Given the description of an element on the screen output the (x, y) to click on. 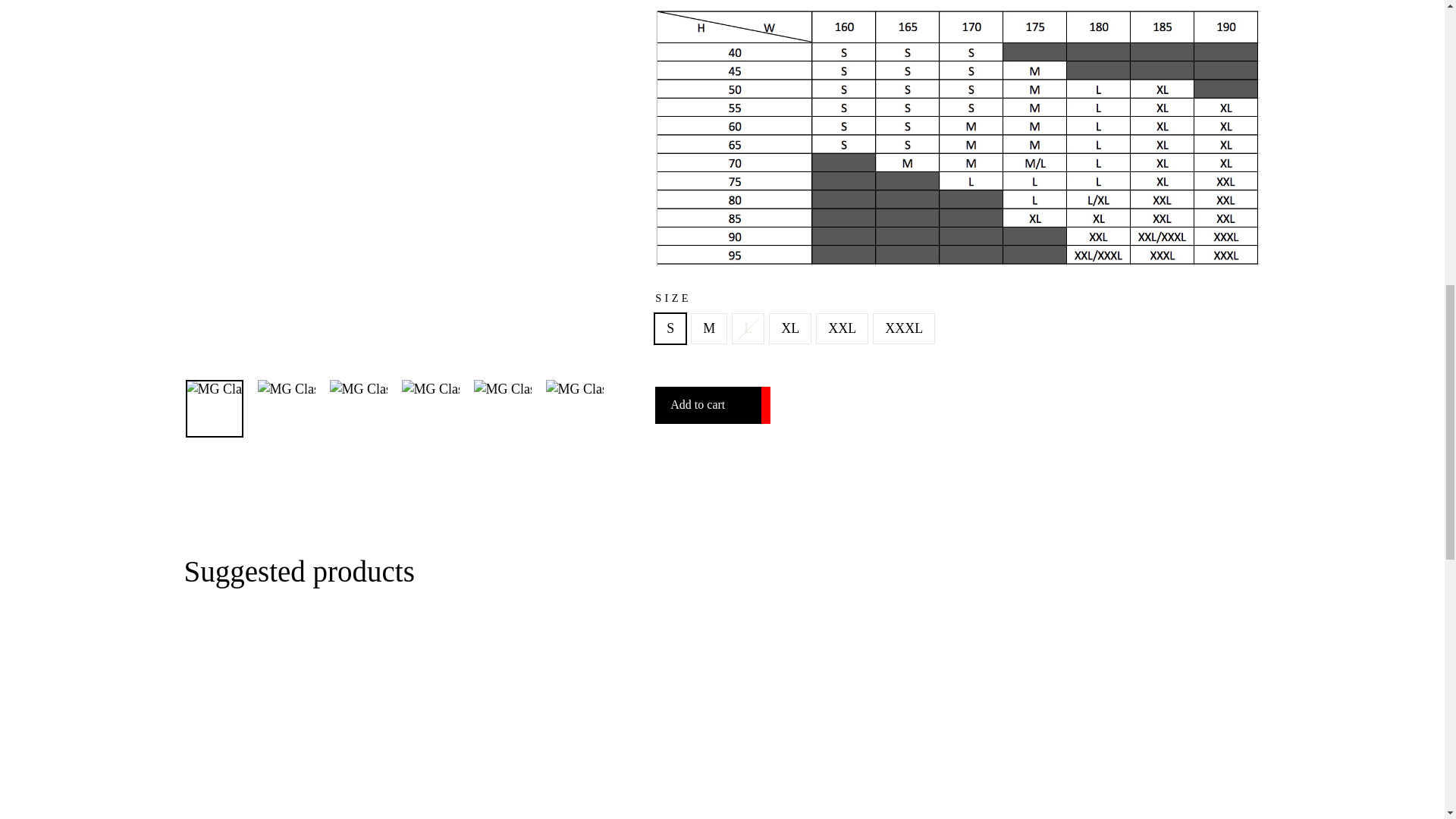
Add to cart (712, 405)
